Given the description of an element on the screen output the (x, y) to click on. 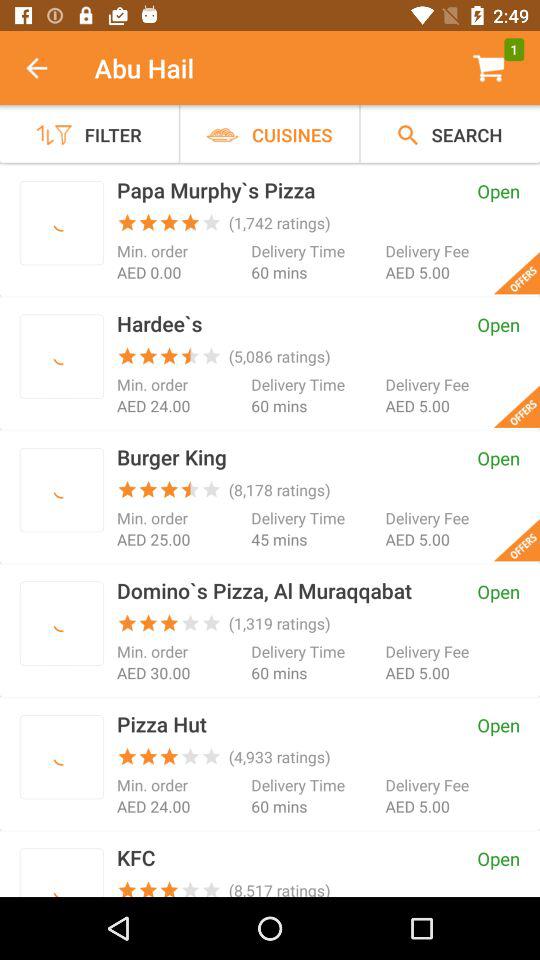
view restaurant (61, 876)
